Given the description of an element on the screen output the (x, y) to click on. 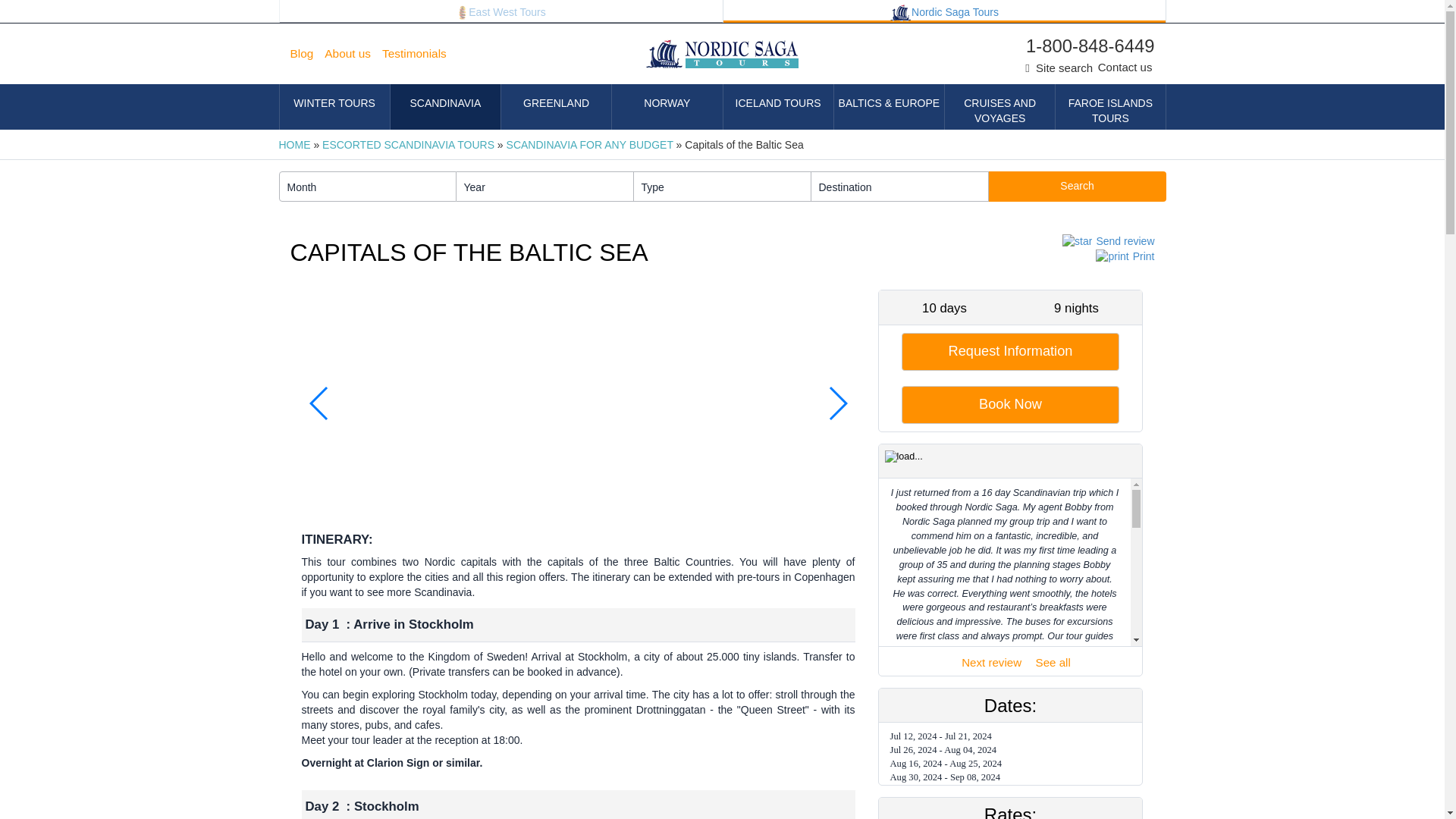
About us (352, 53)
ESCORTED SCANDINAVIA TOURS (408, 144)
Testimonials (419, 53)
SCANDINAVIA FOR ANY BUDGET (589, 144)
WINTER TOURS (333, 106)
Send review (1106, 241)
East West Tours (500, 11)
scandinavian tours (900, 13)
1-800-848-6449 (1078, 46)
HOME (295, 144)
Blog (306, 53)
Contact us (1125, 66)
NORDICSAGA.COM (944, 11)
FAROE ISLANDS (1109, 106)
Nordic Saga Tours (944, 11)
